Given the description of an element on the screen output the (x, y) to click on. 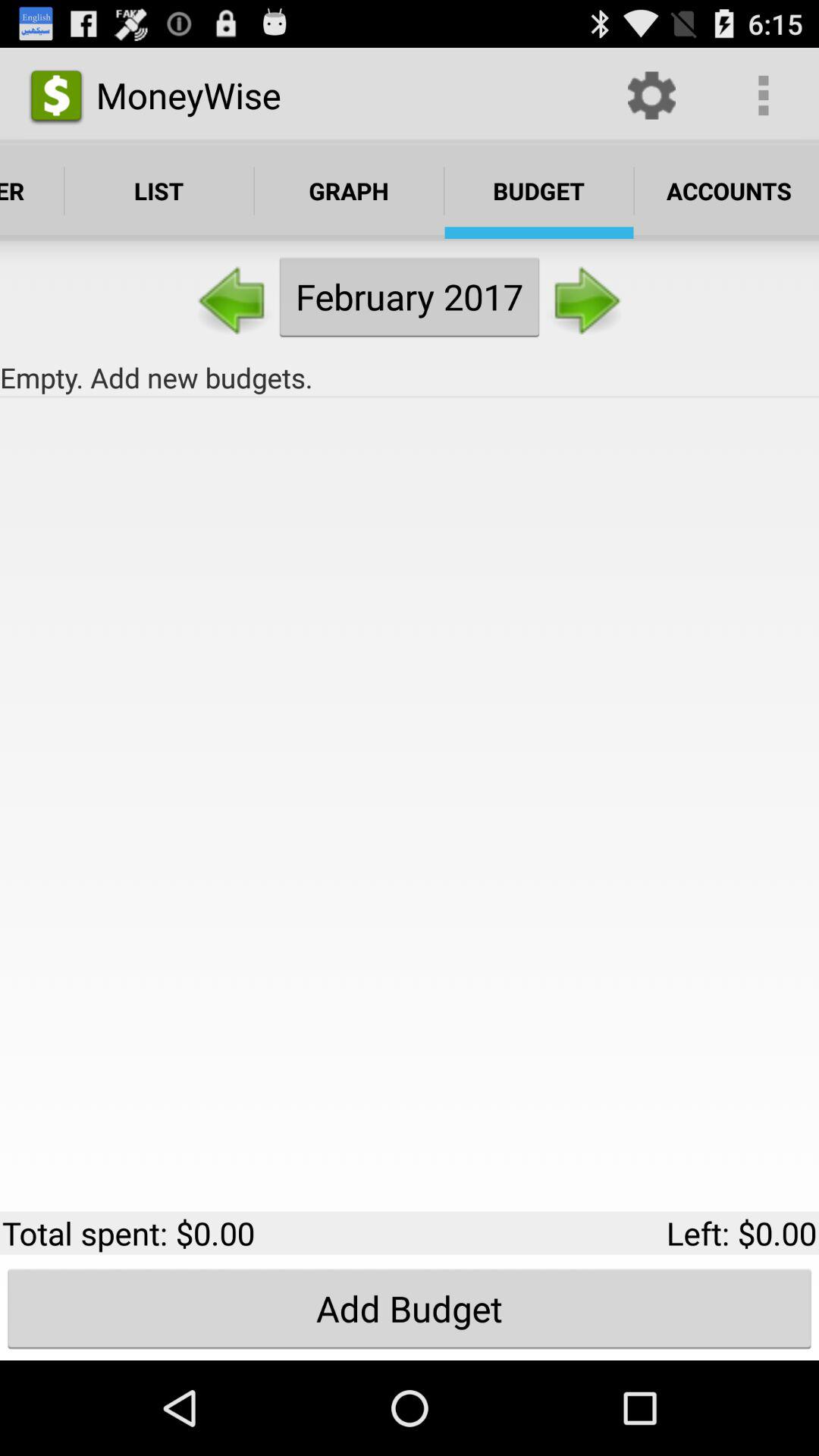
click icon below budget item (584, 296)
